Given the description of an element on the screen output the (x, y) to click on. 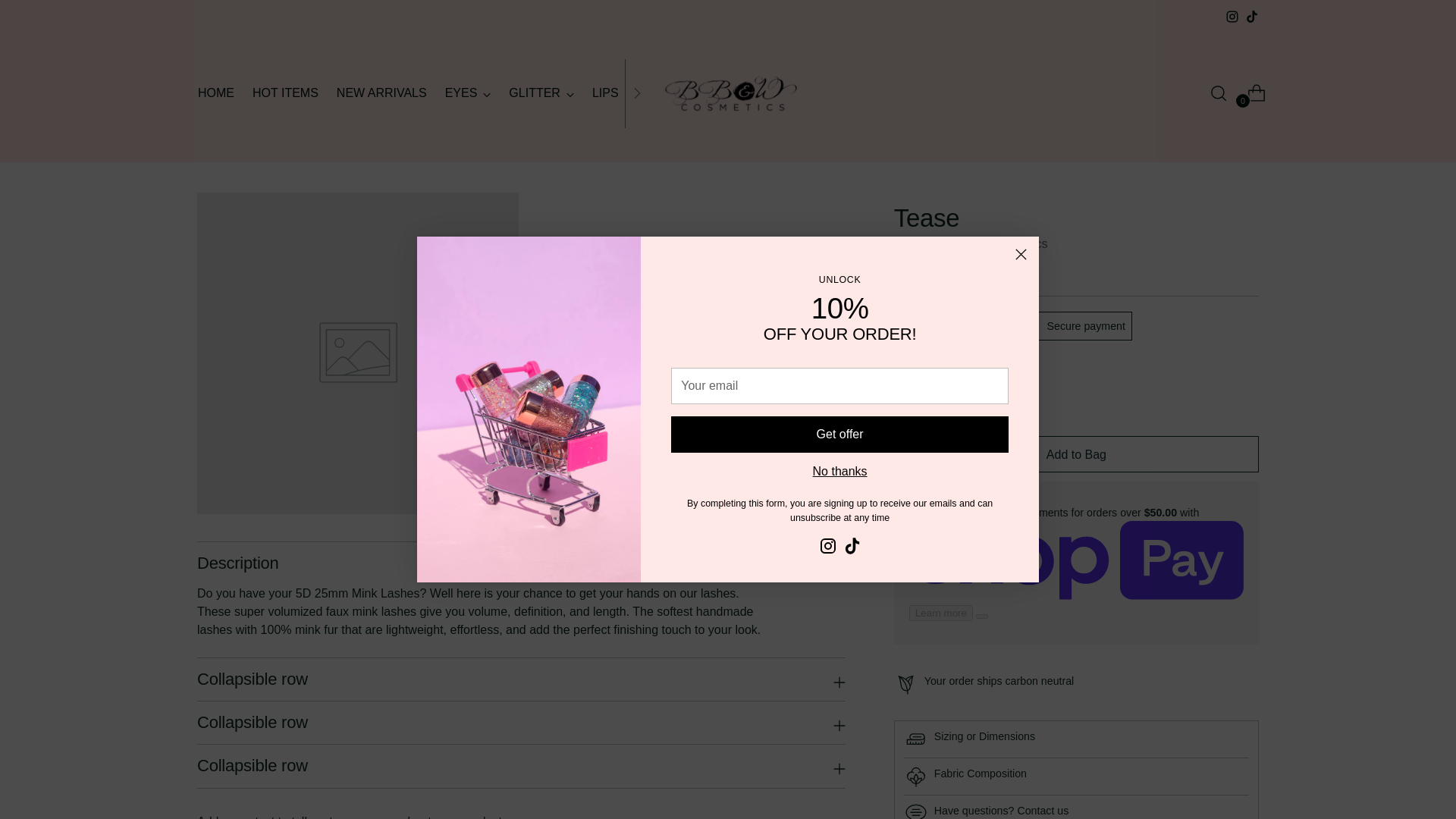
GLITTER (540, 92)
LIPS (611, 92)
FACE (672, 92)
EYES (468, 92)
0 (1249, 92)
HOT ITEMS (284, 92)
Next (636, 93)
1 (930, 399)
HOME (216, 92)
NEW ARRIVALS (381, 92)
